Given the description of an element on the screen output the (x, y) to click on. 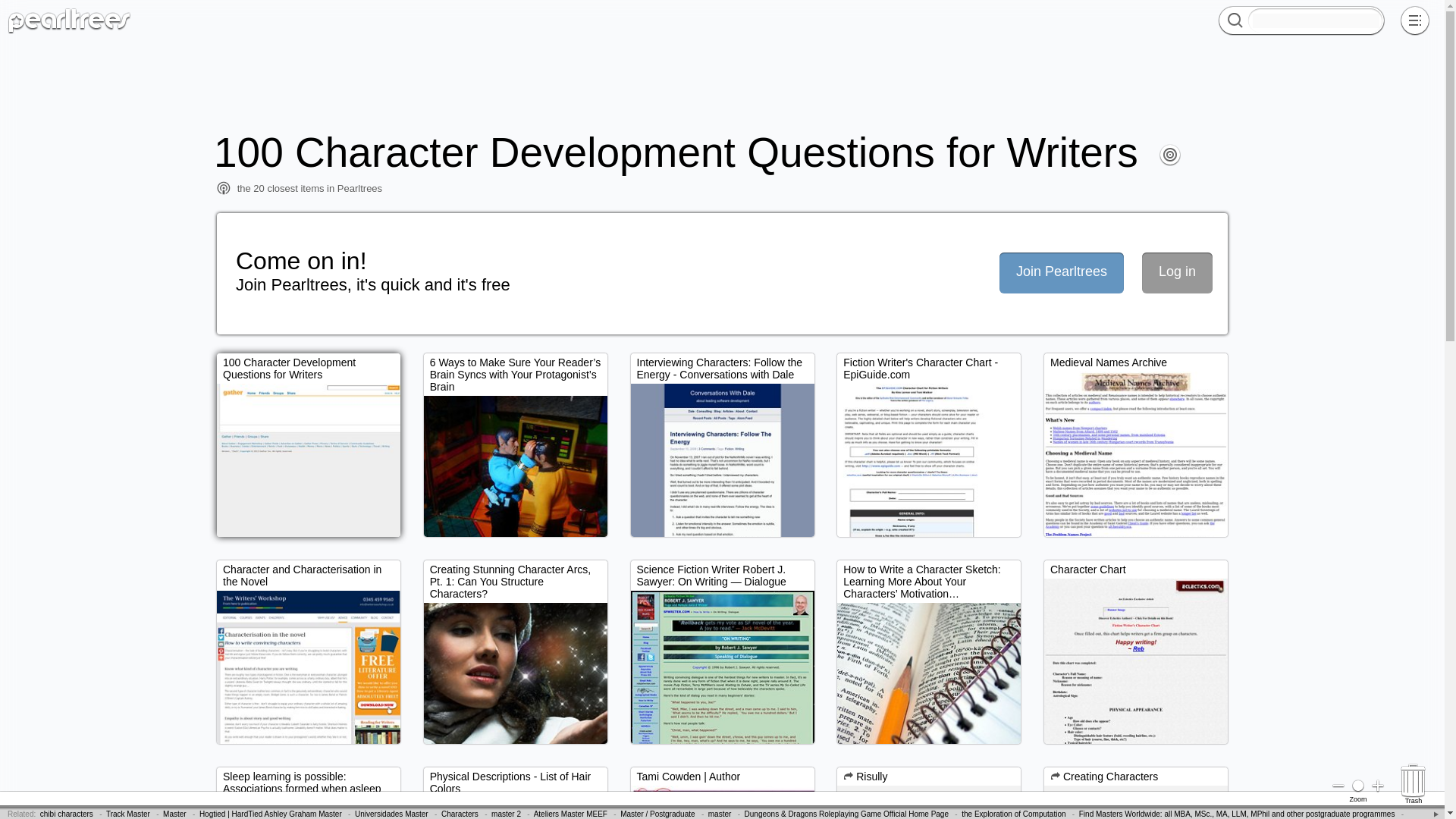
master (719, 813)
Master (174, 813)
Track Master (127, 813)
master 2 (506, 813)
Ateliers Master MEEF (570, 813)
Universidades Master (391, 813)
chibi characters (66, 813)
the Exploration of Computation (1012, 813)
Characters (460, 813)
